Given the description of an element on the screen output the (x, y) to click on. 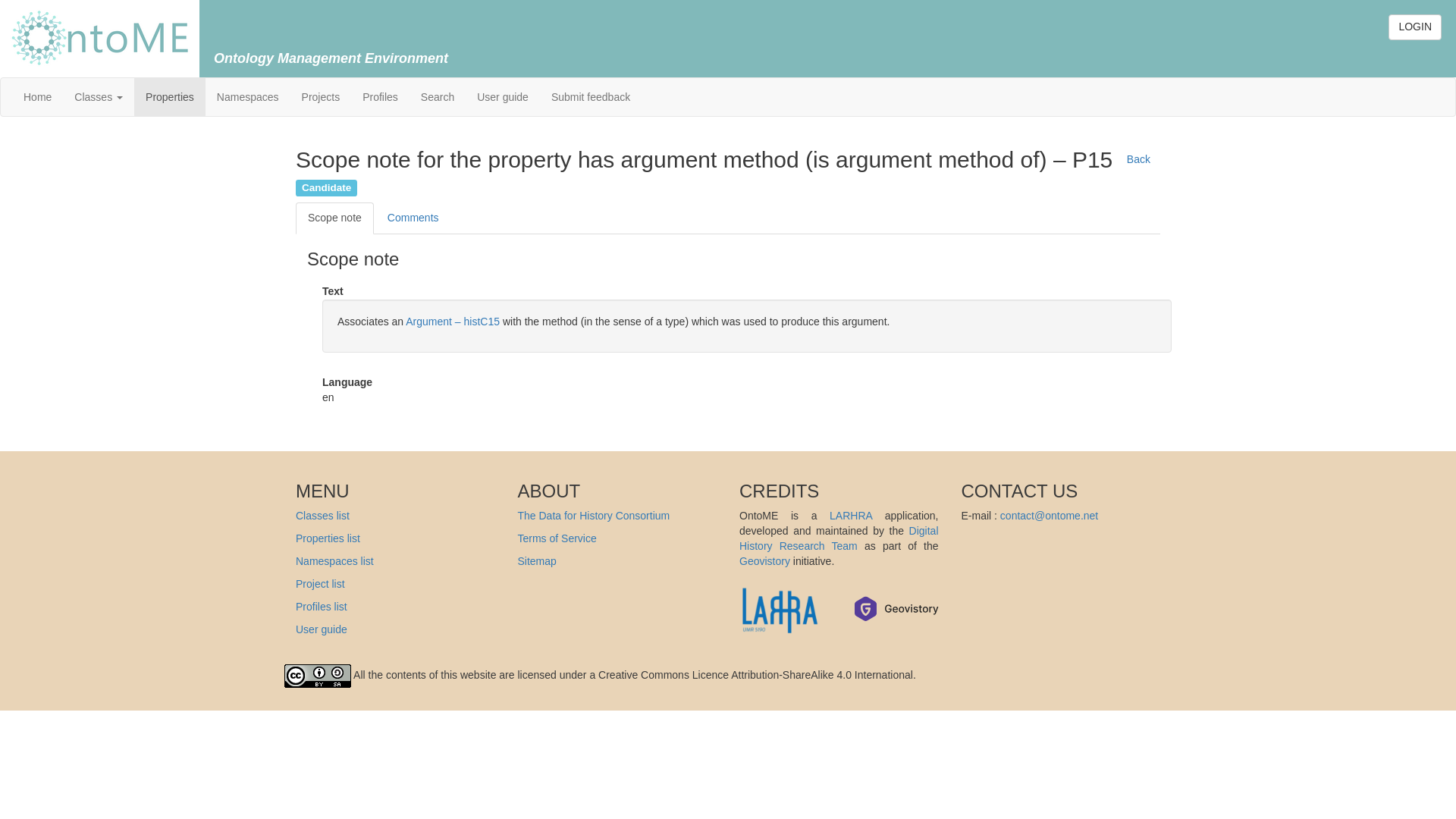
Search (437, 96)
Sitemap (536, 561)
Submit feedback (591, 96)
Namespaces (247, 96)
 Back (1136, 159)
Classes list (322, 515)
Properties list (327, 538)
Projects (320, 96)
OntoME (99, 37)
Properties (169, 96)
User guide (502, 96)
Comments (413, 218)
User guide (321, 629)
The Data for History Consortium (592, 515)
Profiles (379, 96)
